Given the description of an element on the screen output the (x, y) to click on. 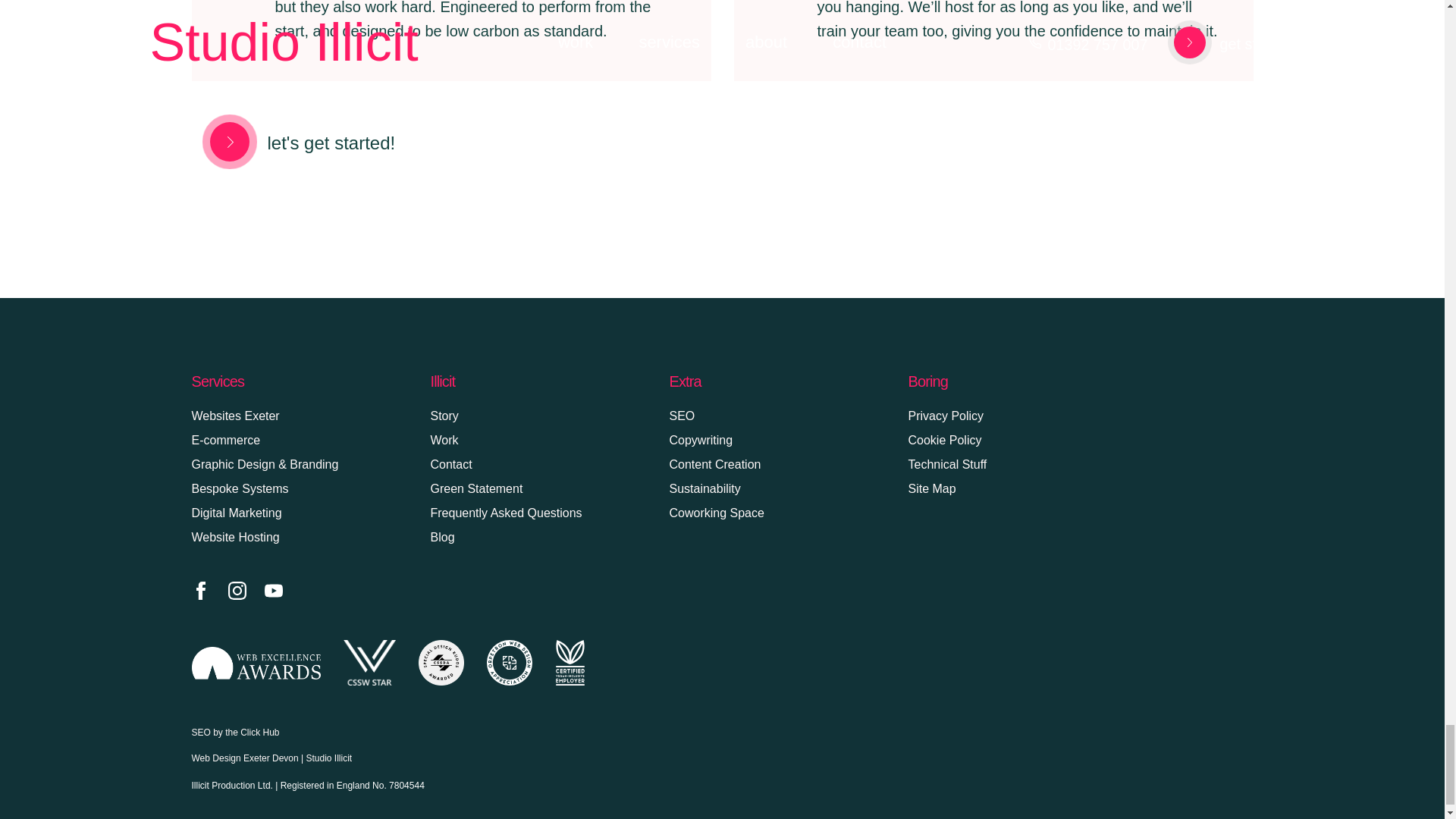
let's get started! (292, 141)
Digital Marketing (235, 512)
Websites Exeter (234, 415)
E-commerce (225, 440)
Bespoke Systems (239, 488)
